Given the description of an element on the screen output the (x, y) to click on. 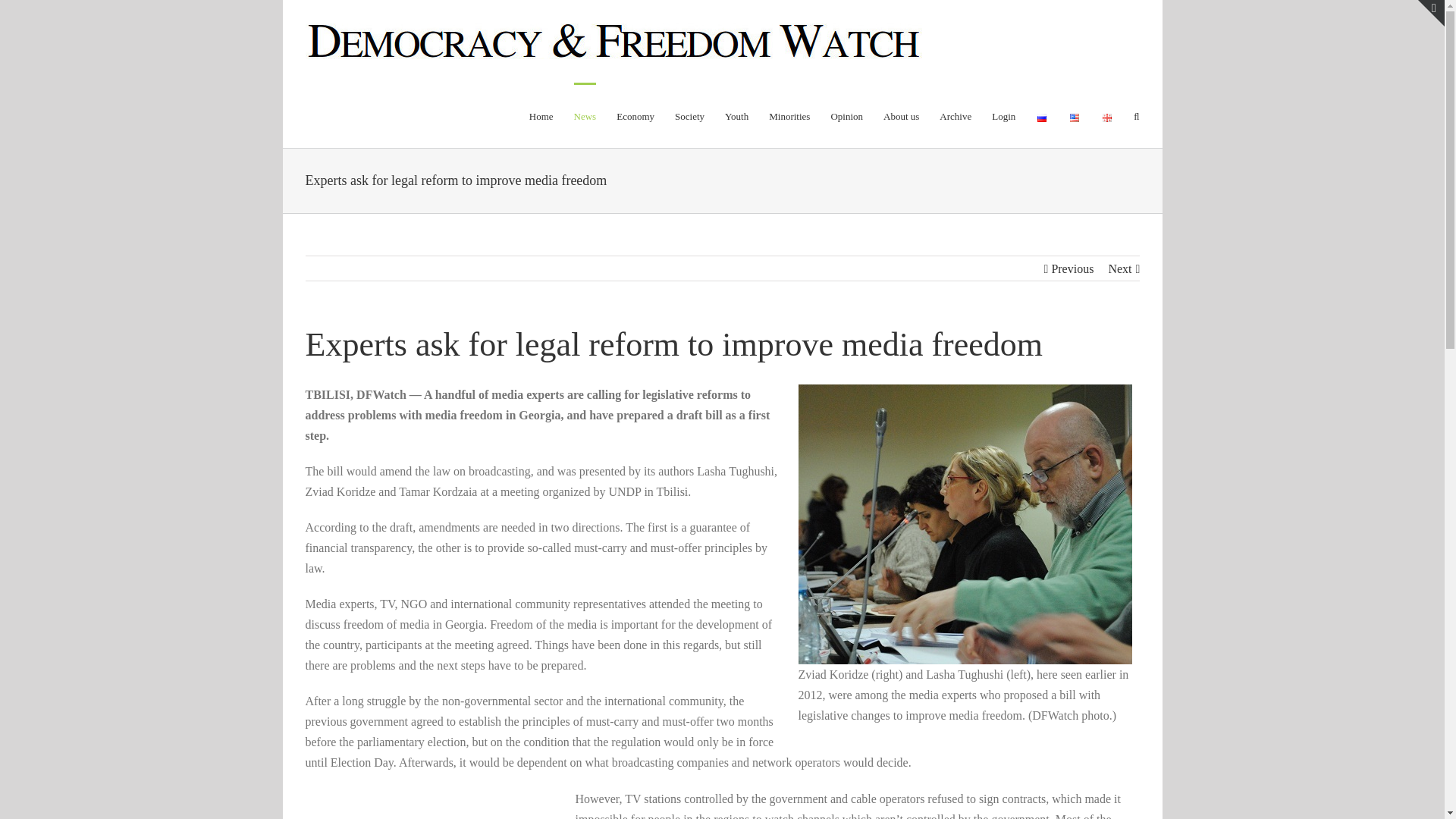
media monitoring (964, 524)
